Given the description of an element on the screen output the (x, y) to click on. 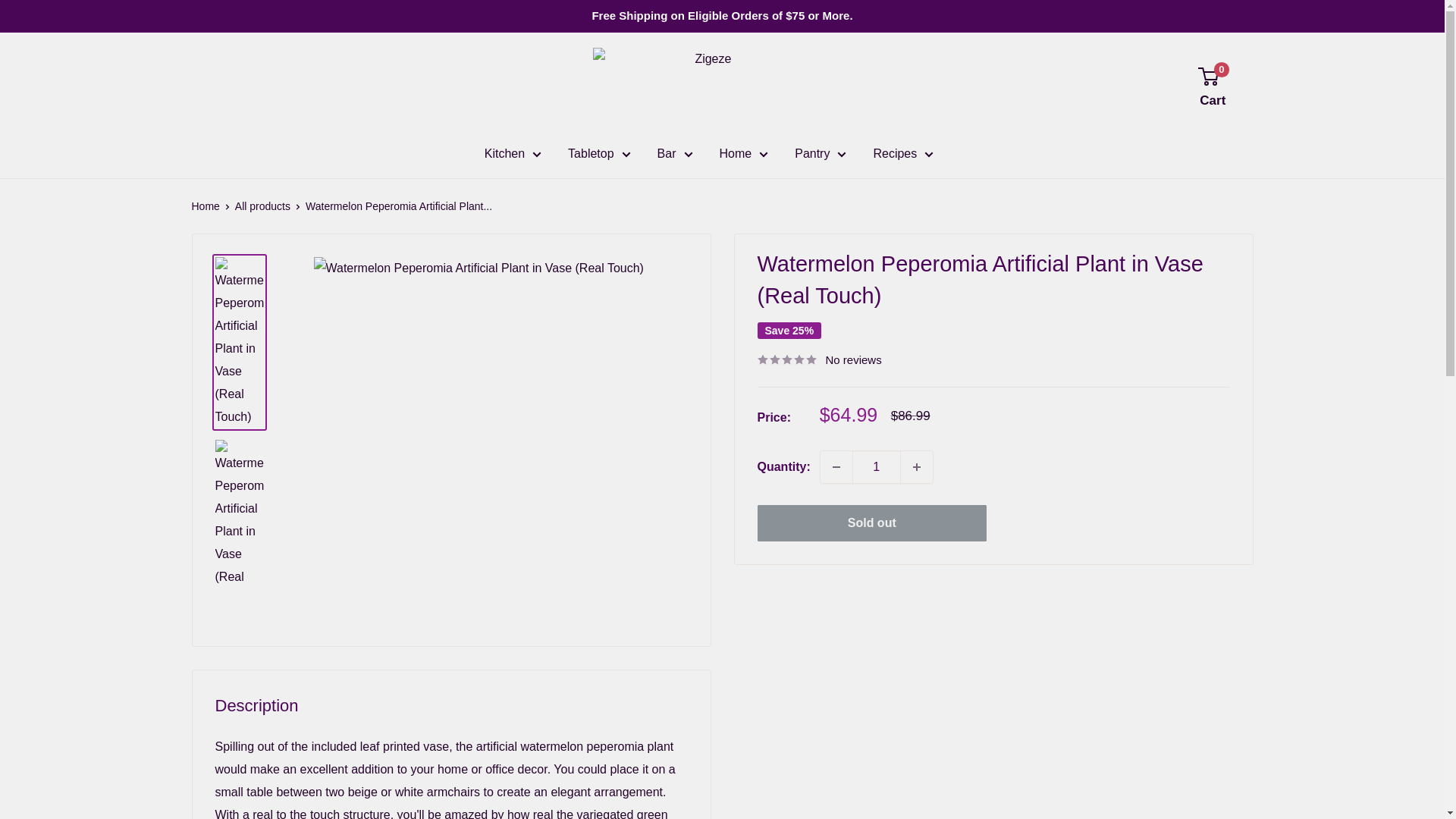
Increase quantity by 1 (917, 467)
Decrease quantity by 1 (836, 467)
1 (876, 467)
